Given the description of an element on the screen output the (x, y) to click on. 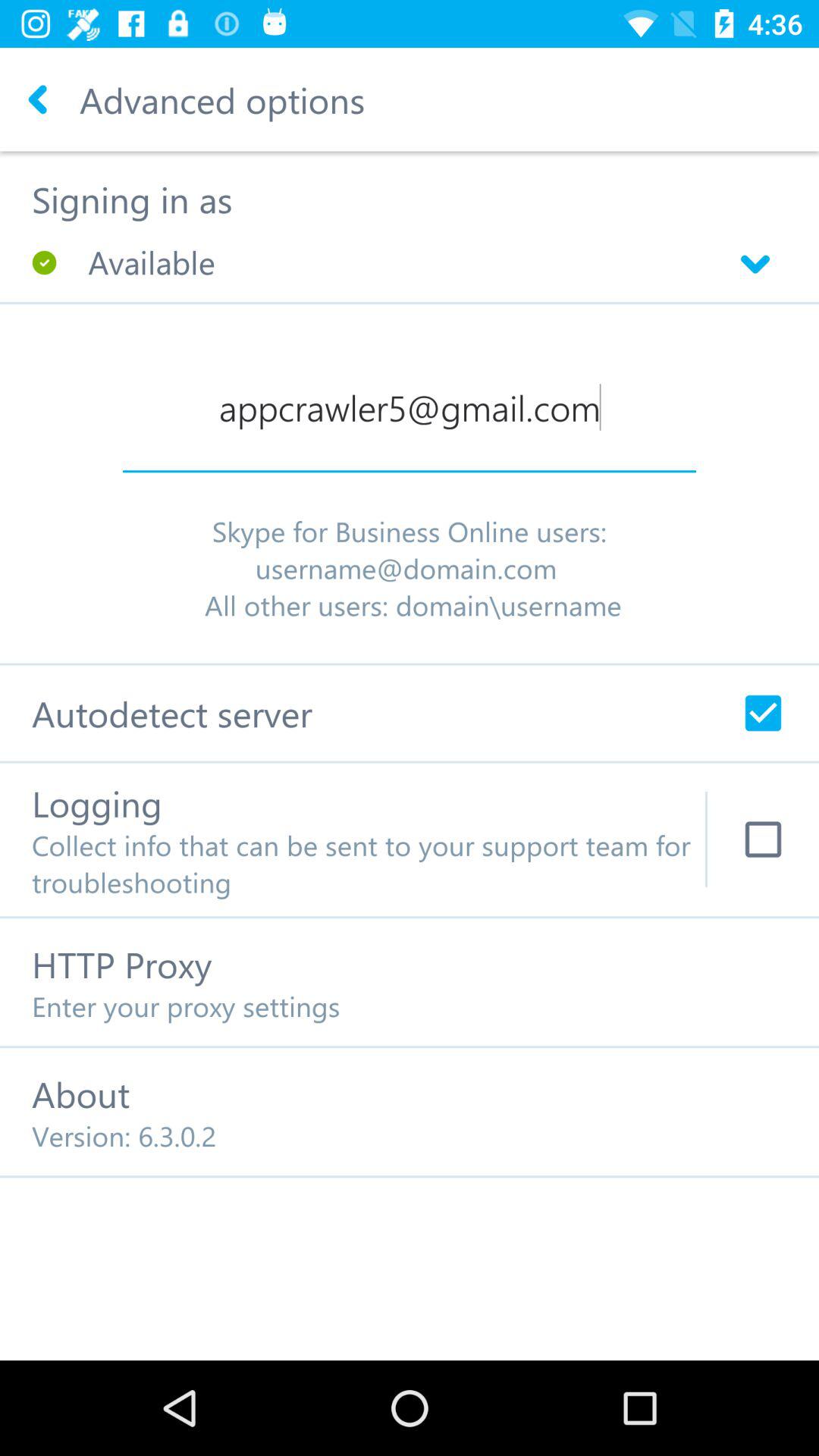
toggle information logging (763, 839)
